Given the description of an element on the screen output the (x, y) to click on. 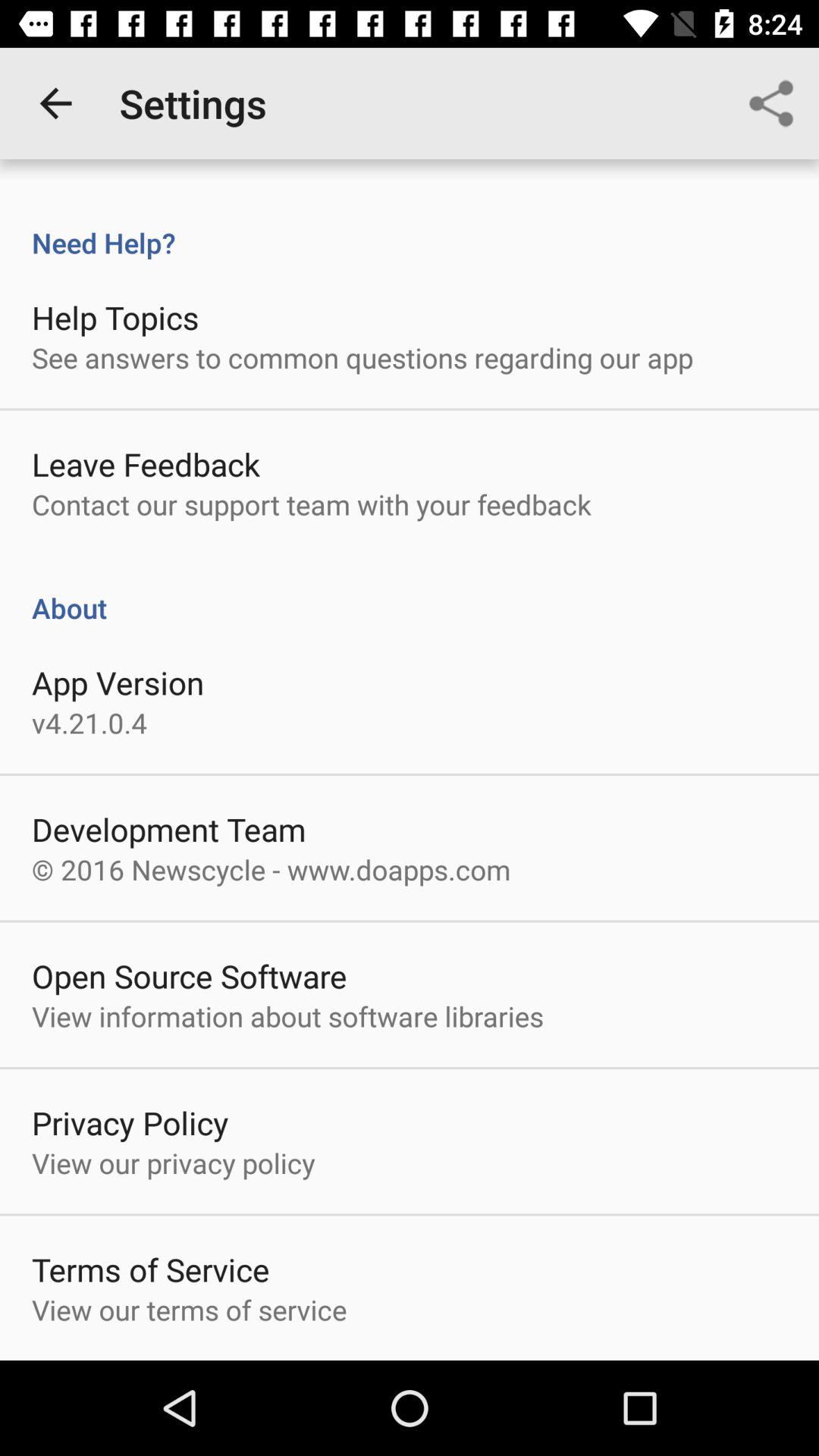
press the icon below the need help? (115, 316)
